Given the description of an element on the screen output the (x, y) to click on. 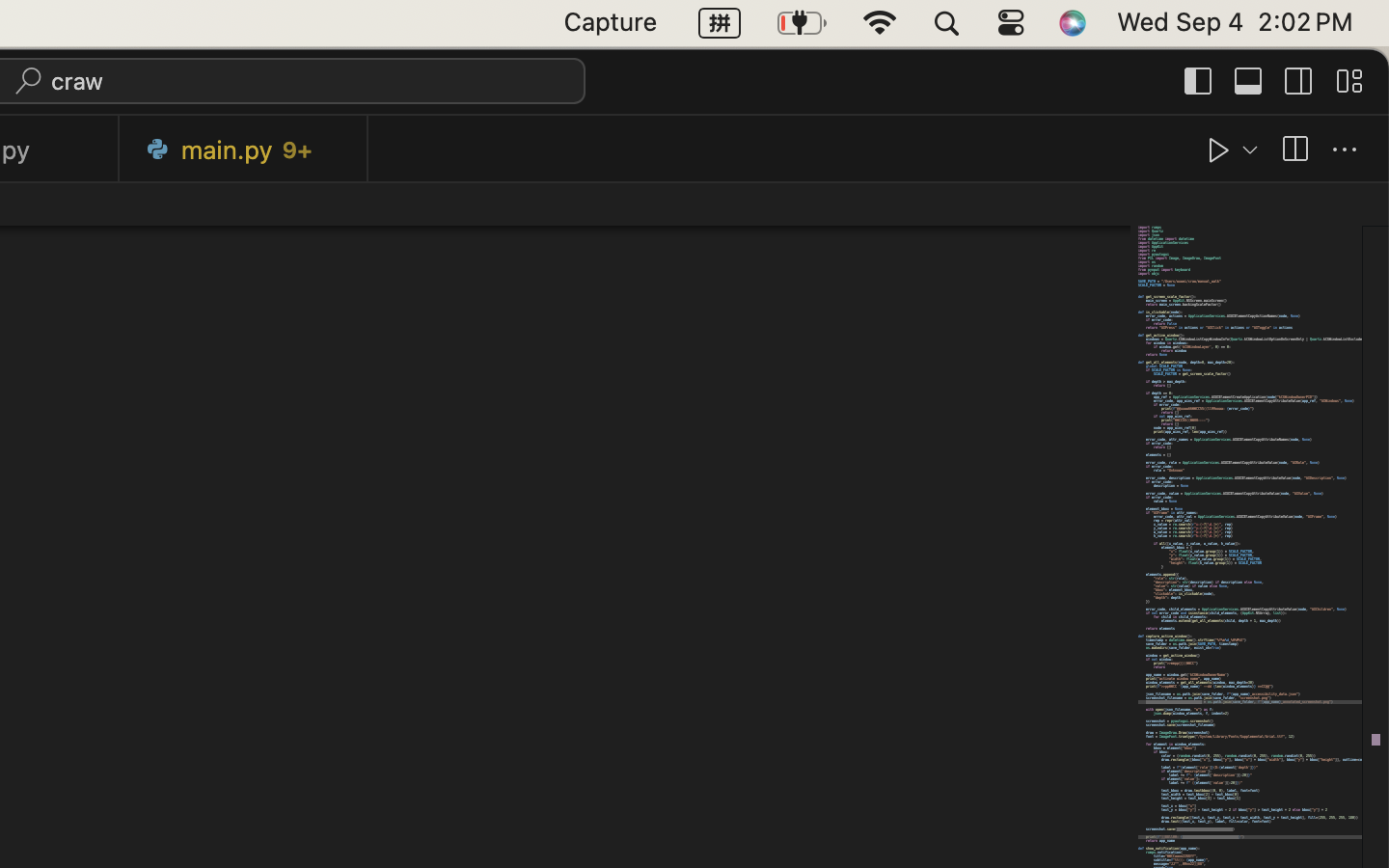
 Element type: AXCheckBox (1198, 80)
craw Element type: AXStaticText (78, 80)
 Element type: AXButton (1294, 150)
 Element type: AXButton (1349, 80)
